Given the description of an element on the screen output the (x, y) to click on. 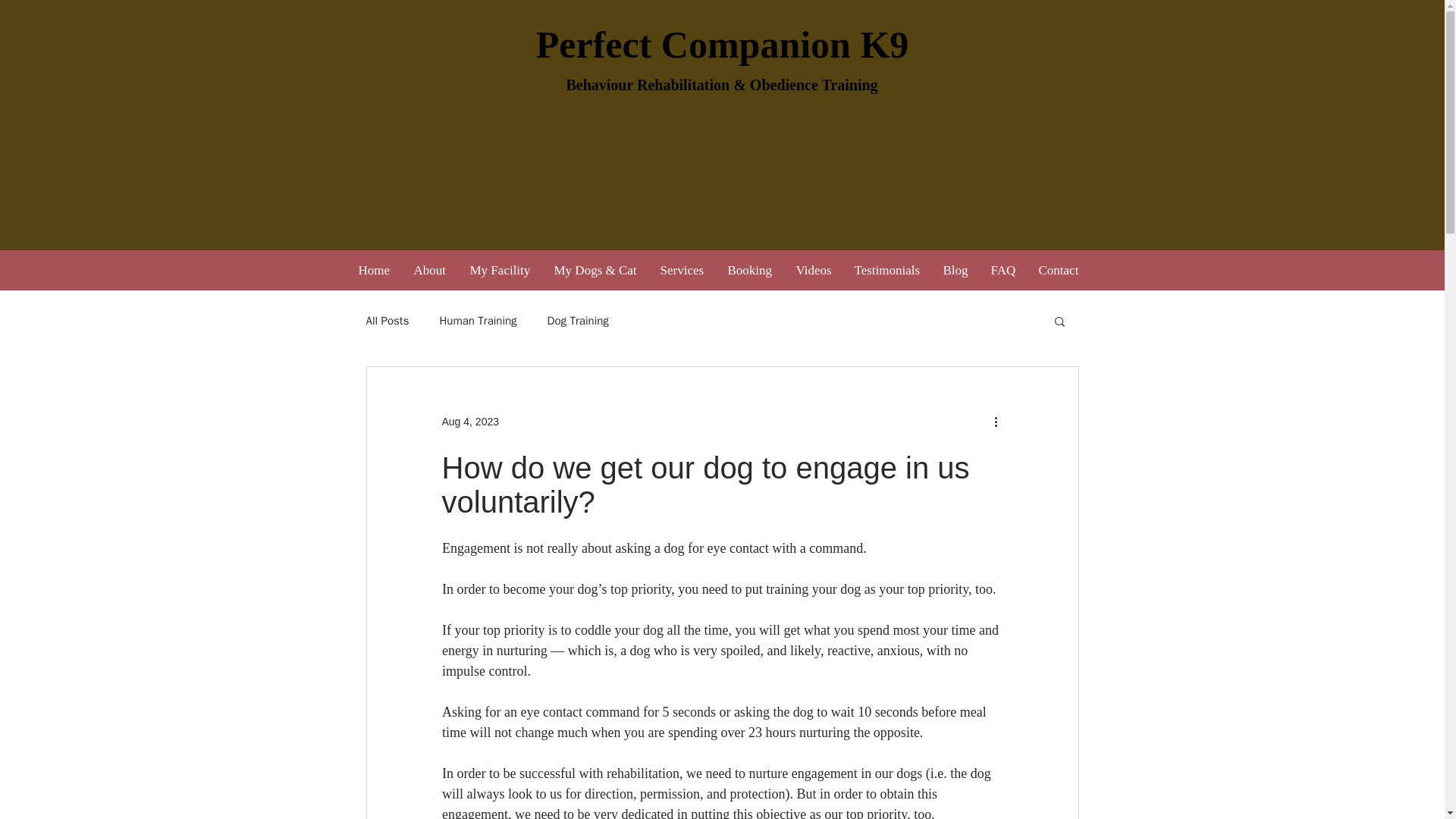
Videos (818, 270)
Blog (960, 270)
FAQ (1006, 270)
Testimonials (889, 270)
Contact (1062, 270)
Home (378, 270)
My Facility (505, 270)
Perfect Companion K9 (721, 44)
All Posts (387, 320)
Aug 4, 2023 (470, 421)
About (434, 270)
Dog Training (577, 320)
Booking (754, 270)
Human Training (477, 320)
